Given the description of an element on the screen output the (x, y) to click on. 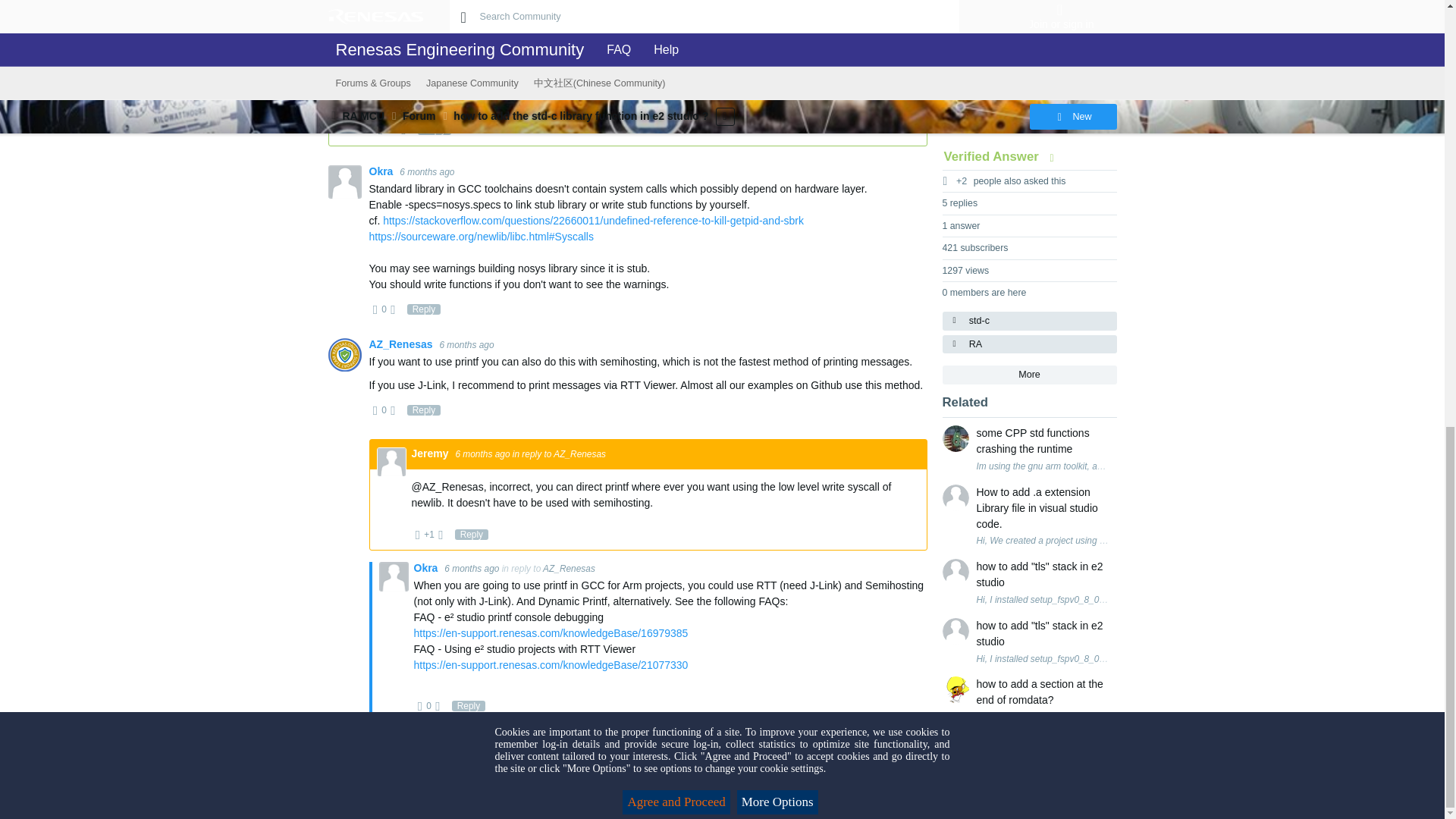
how to add "tls" stack in e2 studio (1042, 574)
std-c (1029, 321)
More (1029, 374)
some CPP std functions crashing the runtime (1042, 441)
How to add .a extension Library file in visual studio code. (1042, 508)
RA (1029, 343)
Verified Answer (1002, 156)
